Given the description of an element on the screen output the (x, y) to click on. 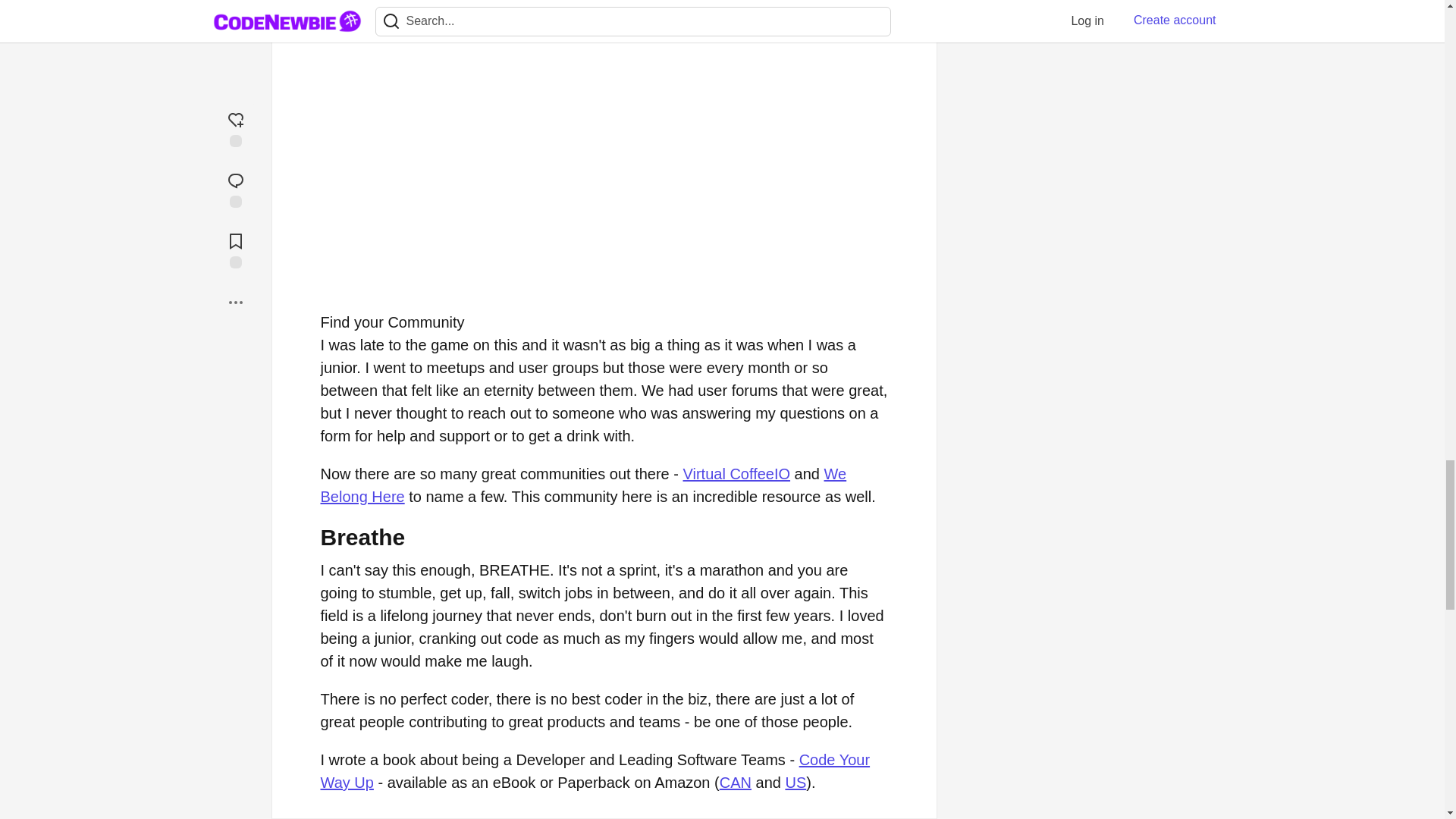
Virtual CoffeeIO (736, 474)
Code Your Way Up (594, 771)
We Belong Here (582, 485)
